Given the description of an element on the screen output the (x, y) to click on. 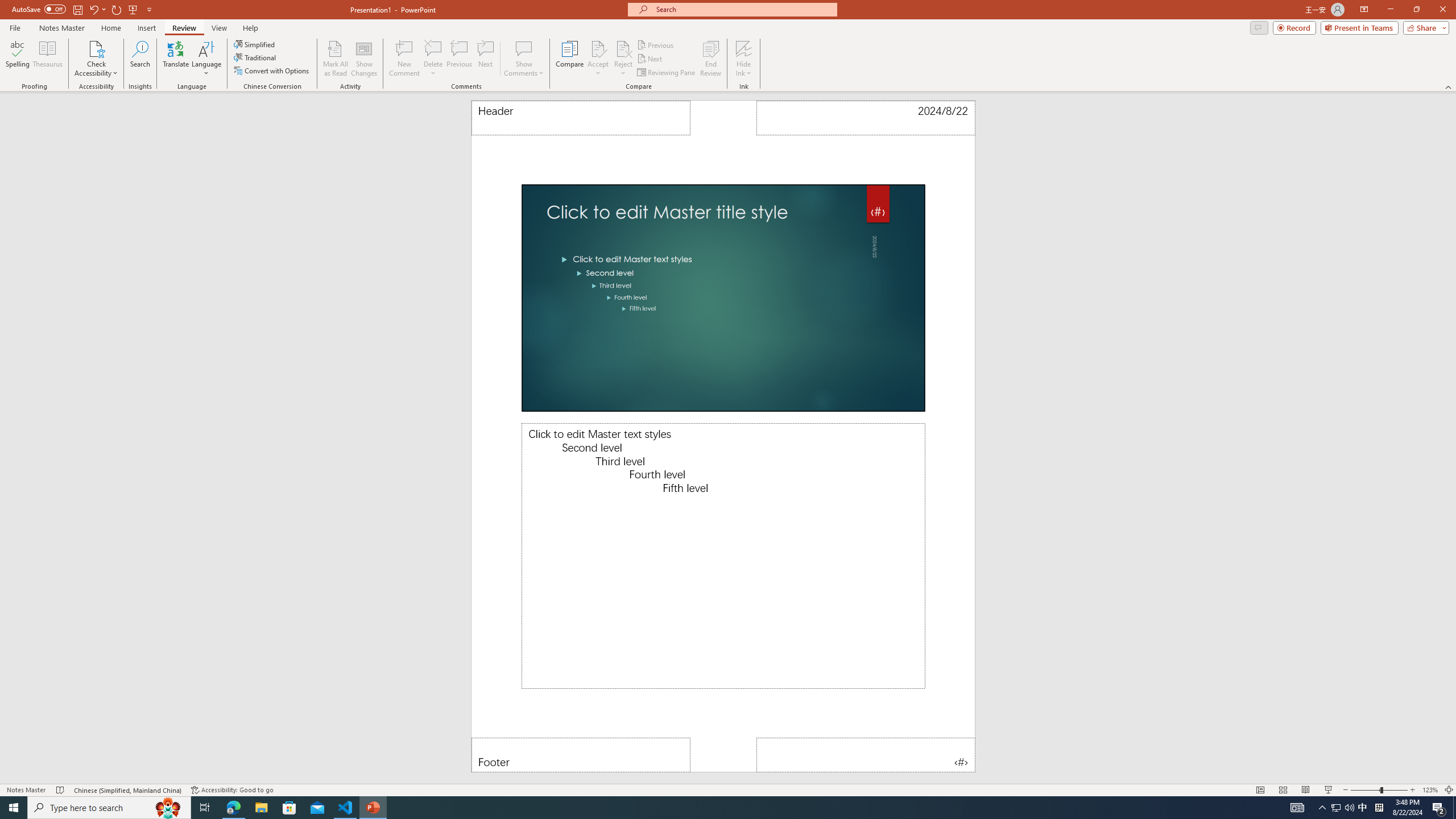
Page Number (866, 754)
Compare (569, 58)
